Given the description of an element on the screen output the (x, y) to click on. 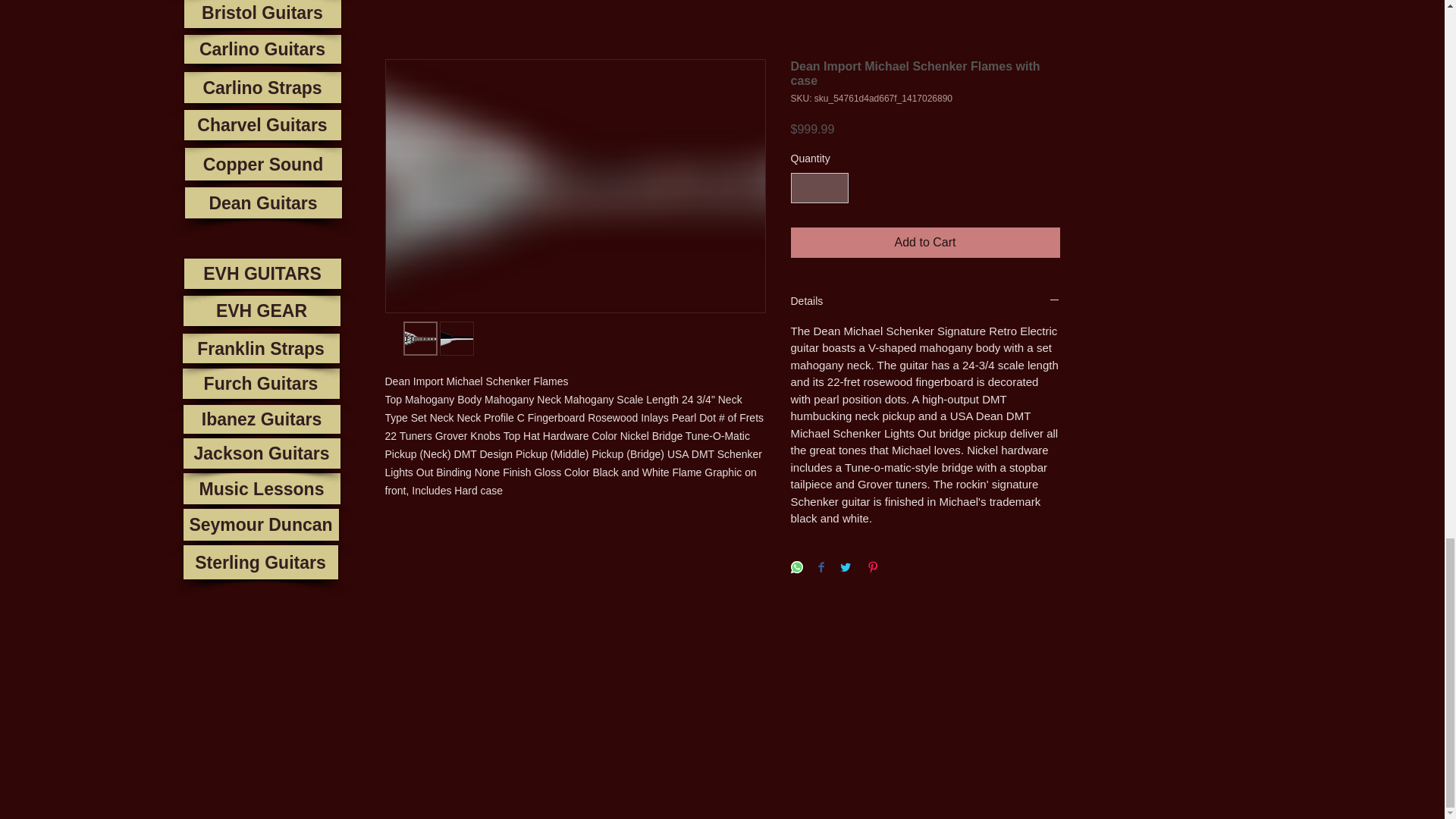
Twitter Follow (204, 688)
1 (818, 187)
